Given the description of an element on the screen output the (x, y) to click on. 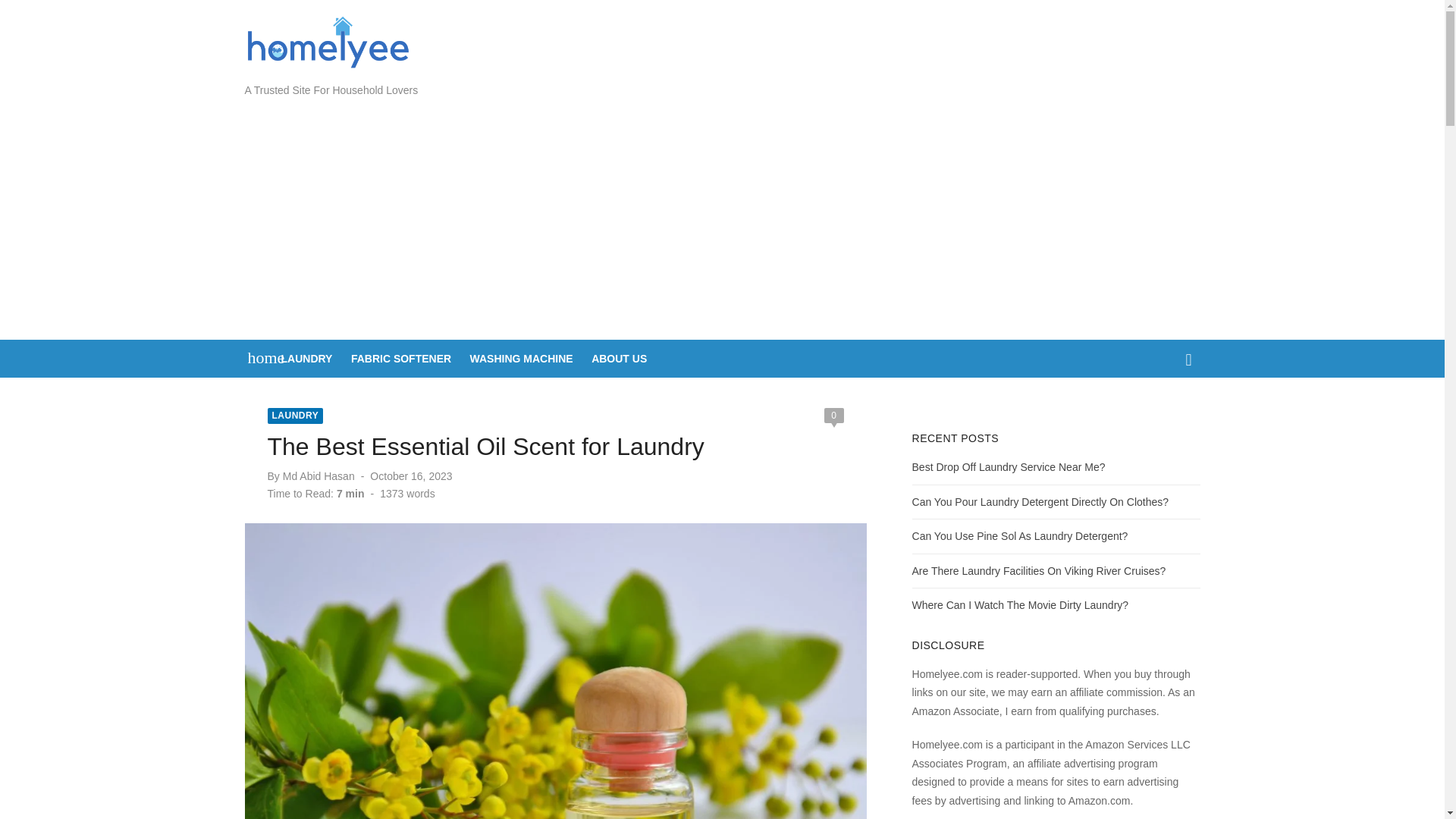
LAUNDRY (294, 415)
Best Drop Off Laundry Service Near Me? (1008, 467)
Md Abid Hasan (318, 476)
home (258, 356)
ABOUT US (618, 358)
0 (833, 415)
Can You Use Pine Sol As Laundry Detergent? (1020, 535)
October 16, 2023 (410, 476)
Can You Pour Laundry Detergent Directly On Clothes? (1040, 501)
WASHING MACHINE (521, 358)
